Given the description of an element on the screen output the (x, y) to click on. 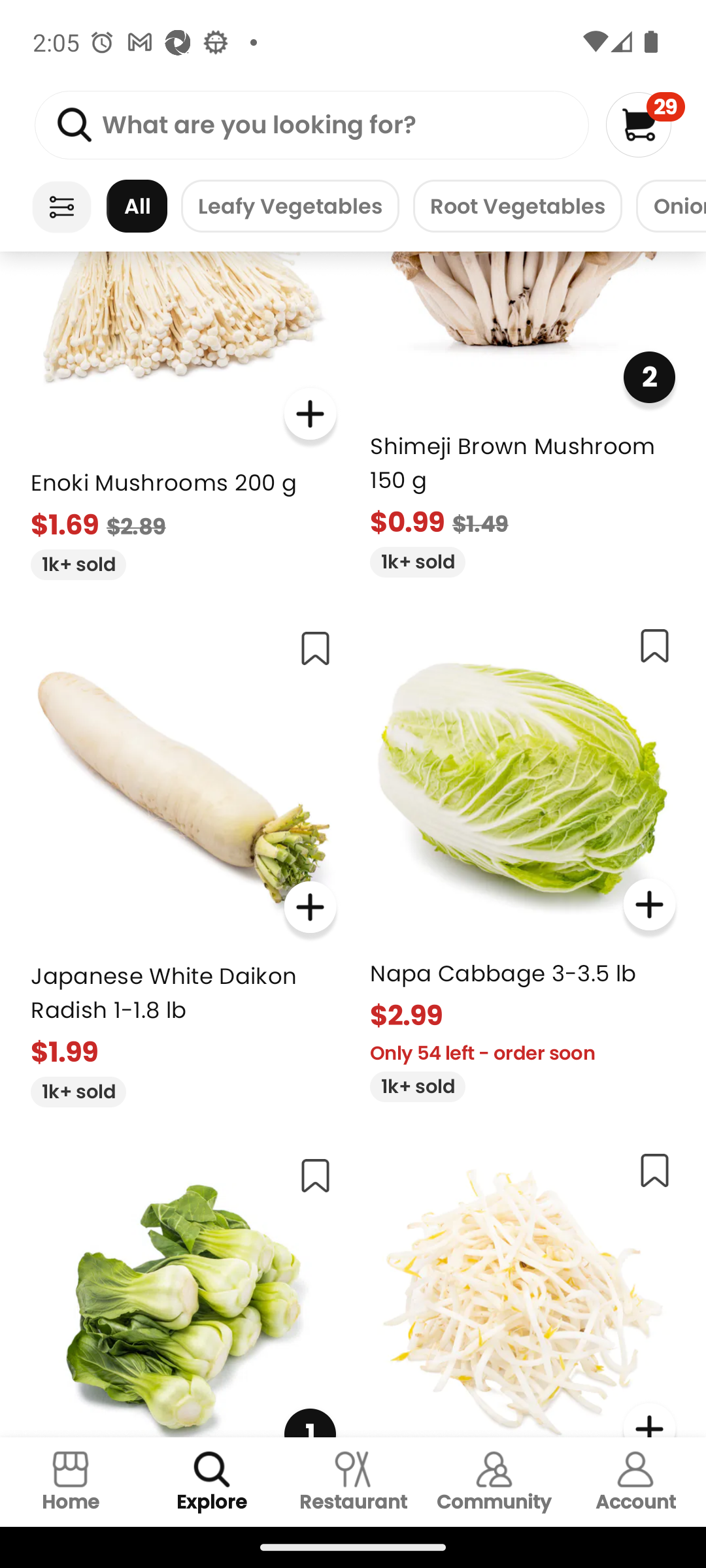
What are you looking for? (311, 124)
29 (644, 124)
All (136, 206)
Leafy Vegetables (289, 206)
Root Vegetables (517, 206)
Onions & Shallots (671, 206)
Enoki Mushrooms 200 g $1.69 $2.89 1k+ sold (182, 415)
2 (648, 376)
1 (182, 1289)
Home (70, 1482)
Explore (211, 1482)
Restaurant (352, 1482)
Community (493, 1482)
Account (635, 1482)
